Given the description of an element on the screen output the (x, y) to click on. 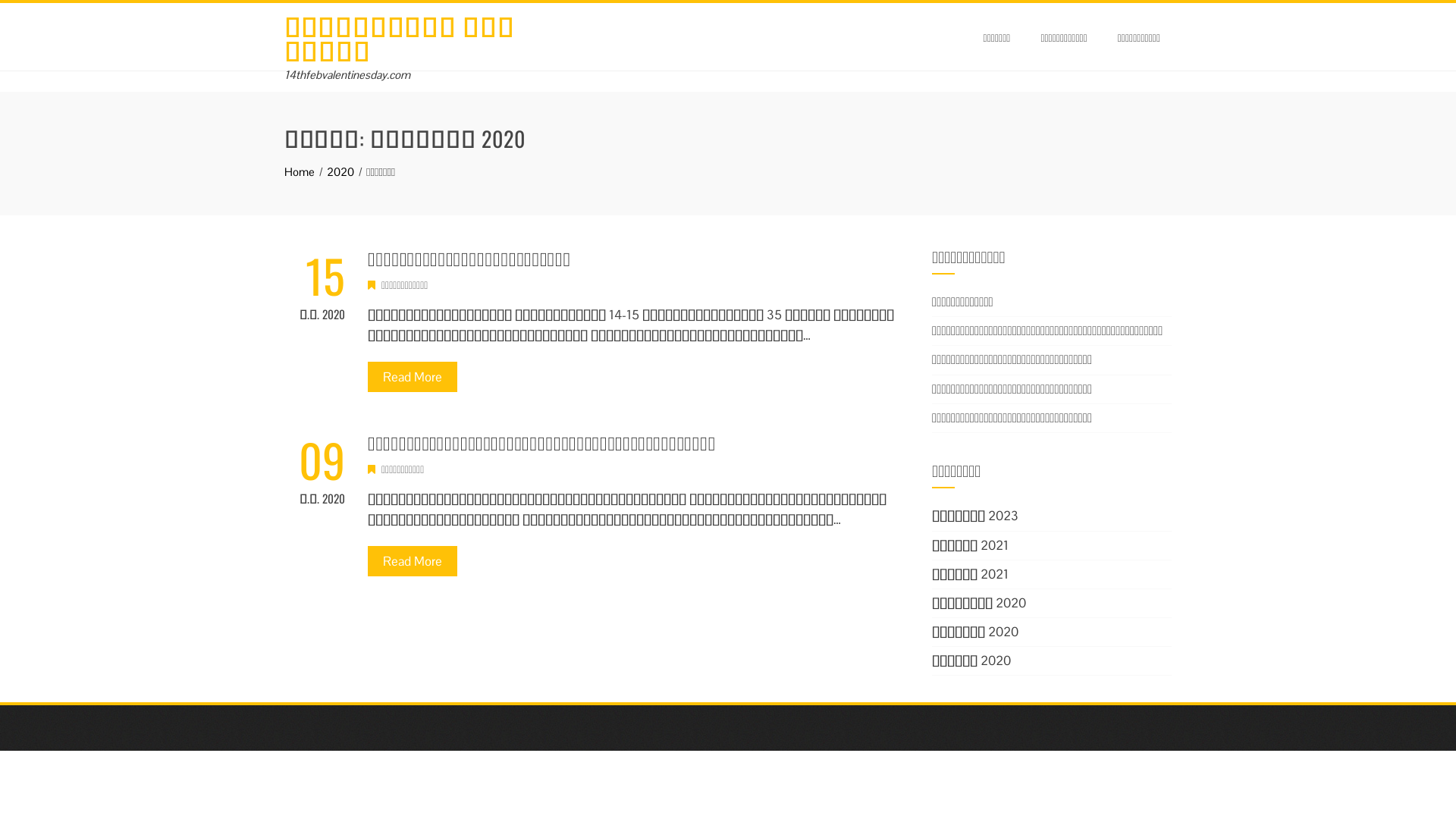
Read More Element type: text (412, 376)
2020 Element type: text (340, 171)
Read More Element type: text (412, 561)
14thfebvalentinesday.com Element type: text (347, 74)
Home Element type: text (299, 171)
